Given the description of an element on the screen output the (x, y) to click on. 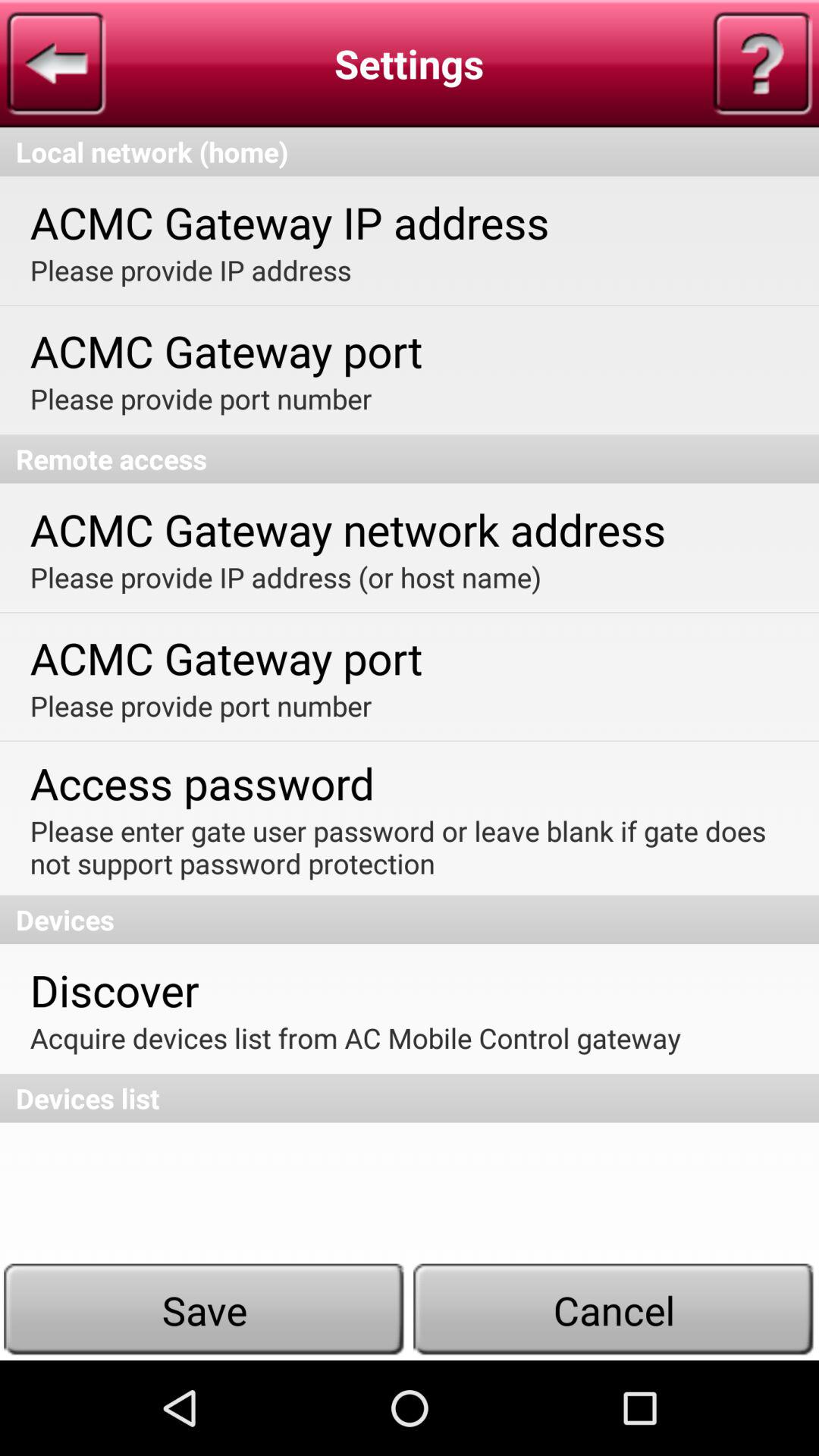
click save item (204, 1309)
